Given the description of an element on the screen output the (x, y) to click on. 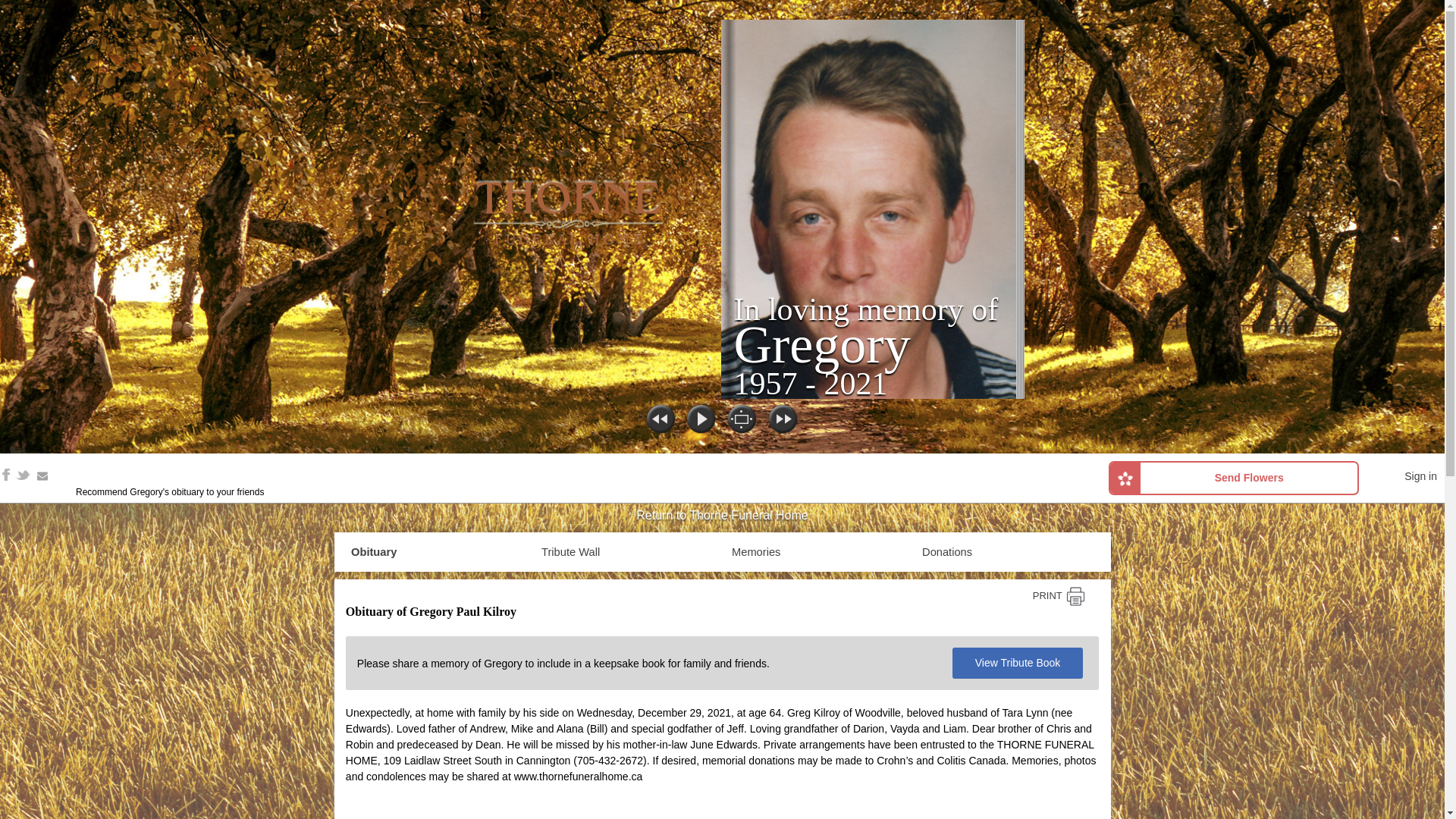
Sign in (1421, 476)
Memories (756, 551)
Send Flowers (1233, 478)
Receive Notifications (42, 475)
PRINT (1058, 596)
Print (1058, 596)
View Tribute Book (1017, 662)
Return to Thorne Funeral Home (721, 515)
Twitter (22, 474)
Obituary (373, 551)
Donations (946, 551)
Tribute Wall (570, 551)
Facebook (5, 474)
